Given the description of an element on the screen output the (x, y) to click on. 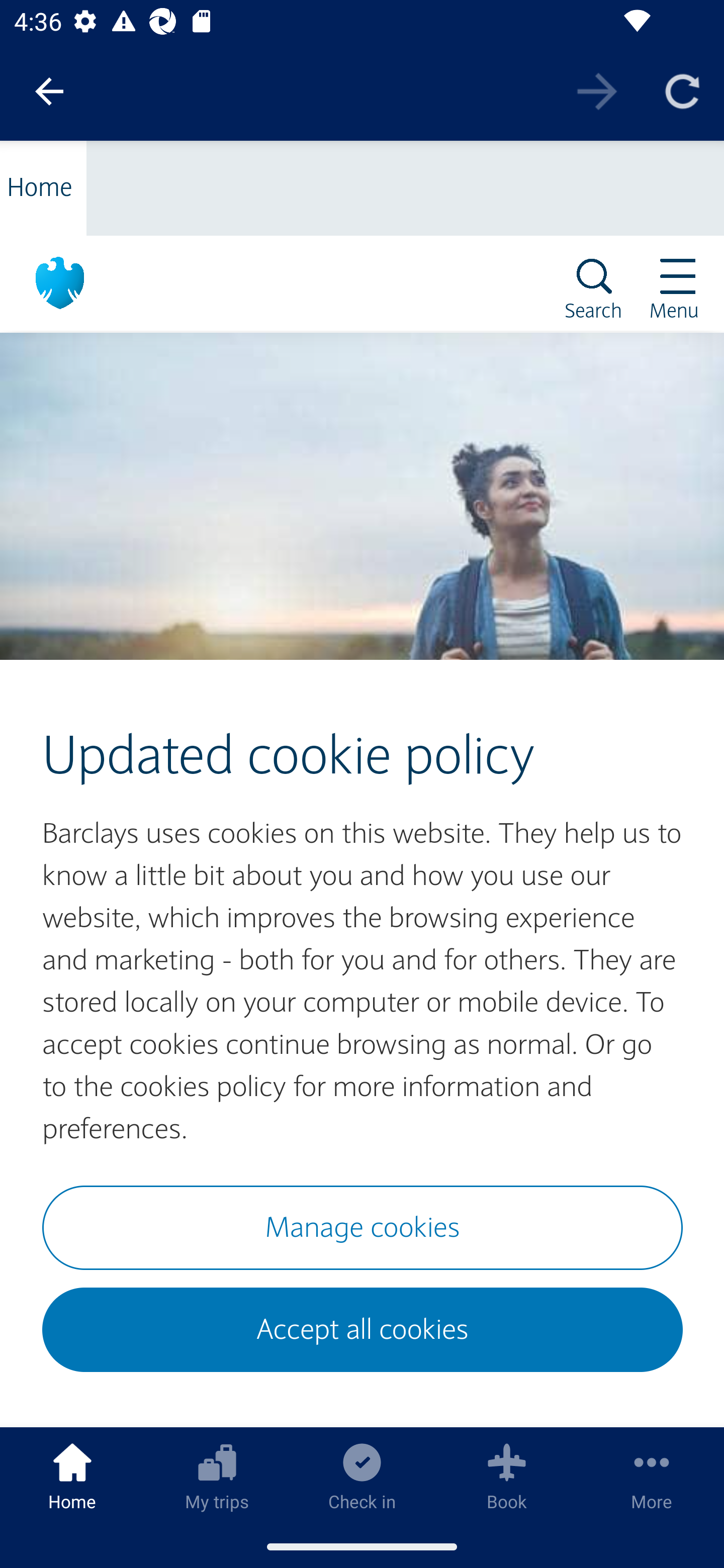
Navigate up (49, 91)
Forward (597, 90)
Reload (681, 90)
Home (44, 173)
Search (595, 279)
Navigation Menu Menu (680, 279)
Barclays Home (60, 304)
Manage cookies (362, 1227)
Accept all cookies (362, 1330)
My trips (216, 1475)
Check in (361, 1475)
Book (506, 1475)
More (651, 1475)
